Given the description of an element on the screen output the (x, y) to click on. 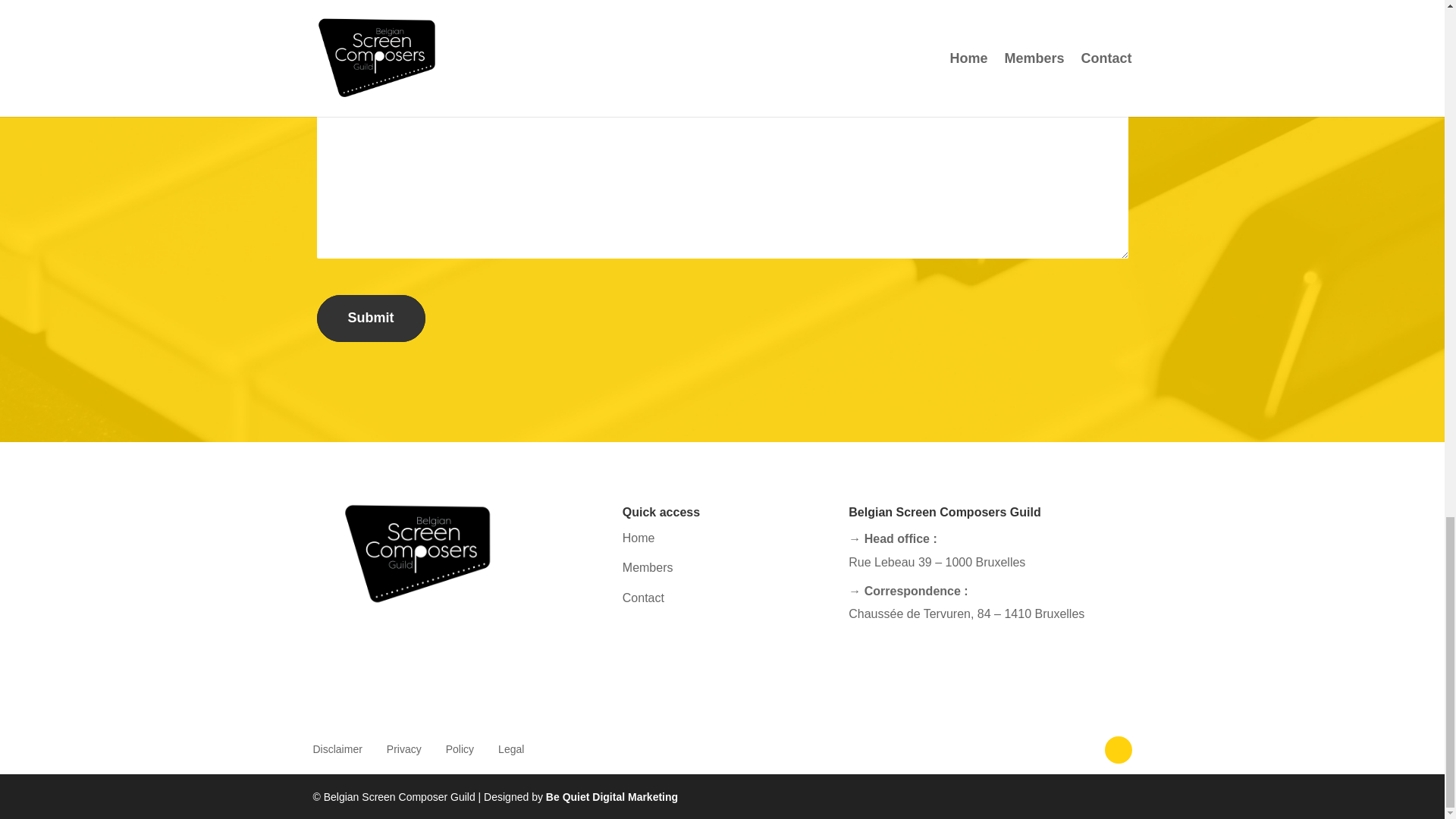
Policy (459, 748)
Home (639, 537)
Submit (371, 318)
Members (647, 567)
Disclaimer (337, 748)
Privacy (404, 748)
logo-guilde (416, 554)
Submit (371, 318)
Contact (643, 597)
Legal (510, 748)
Be Quiet Digital Marketing (612, 797)
